Given the description of an element on the screen output the (x, y) to click on. 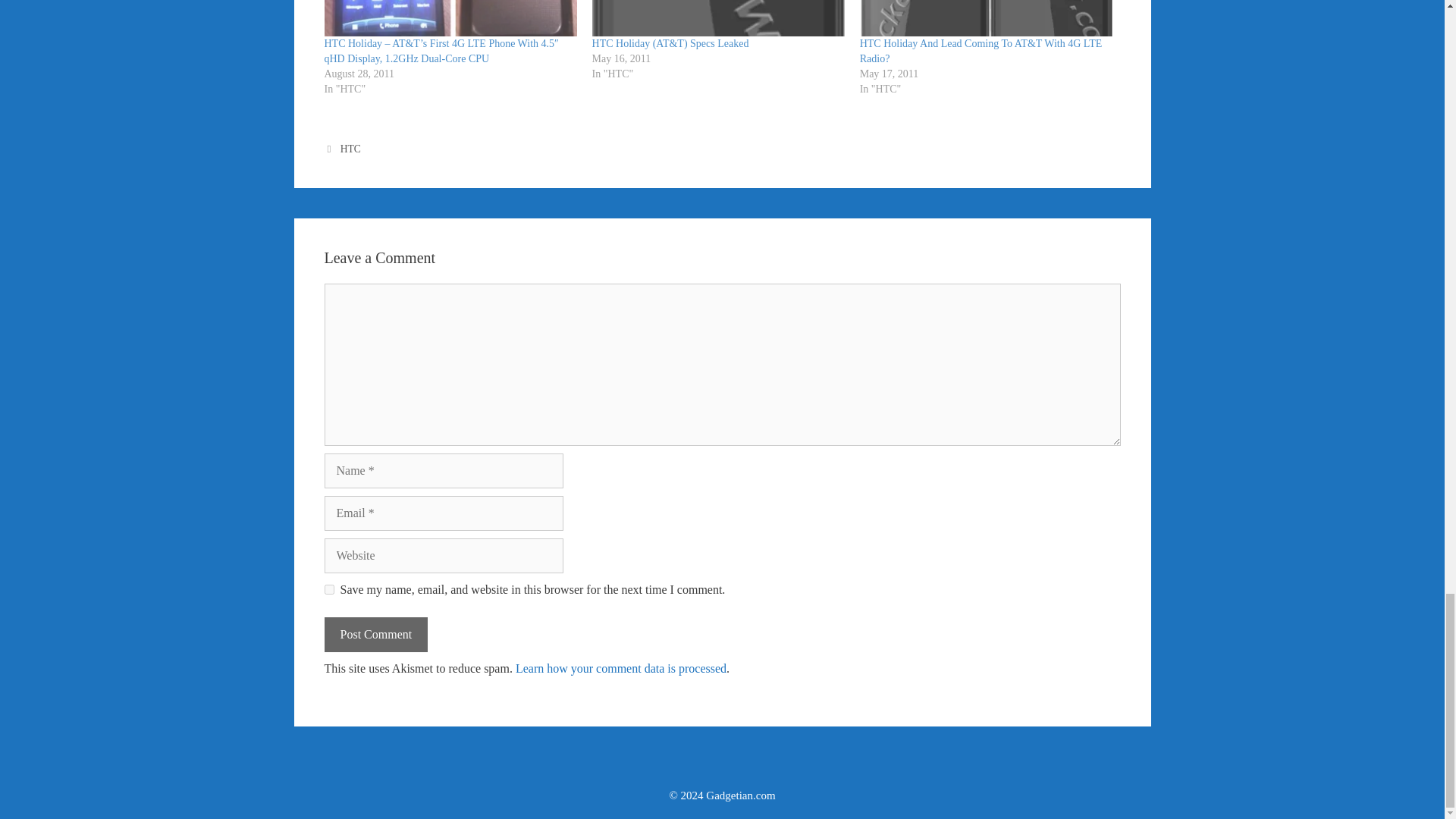
HTC (350, 148)
Post Comment (376, 634)
yes (329, 589)
Post Comment (376, 634)
